Given the description of an element on the screen output the (x, y) to click on. 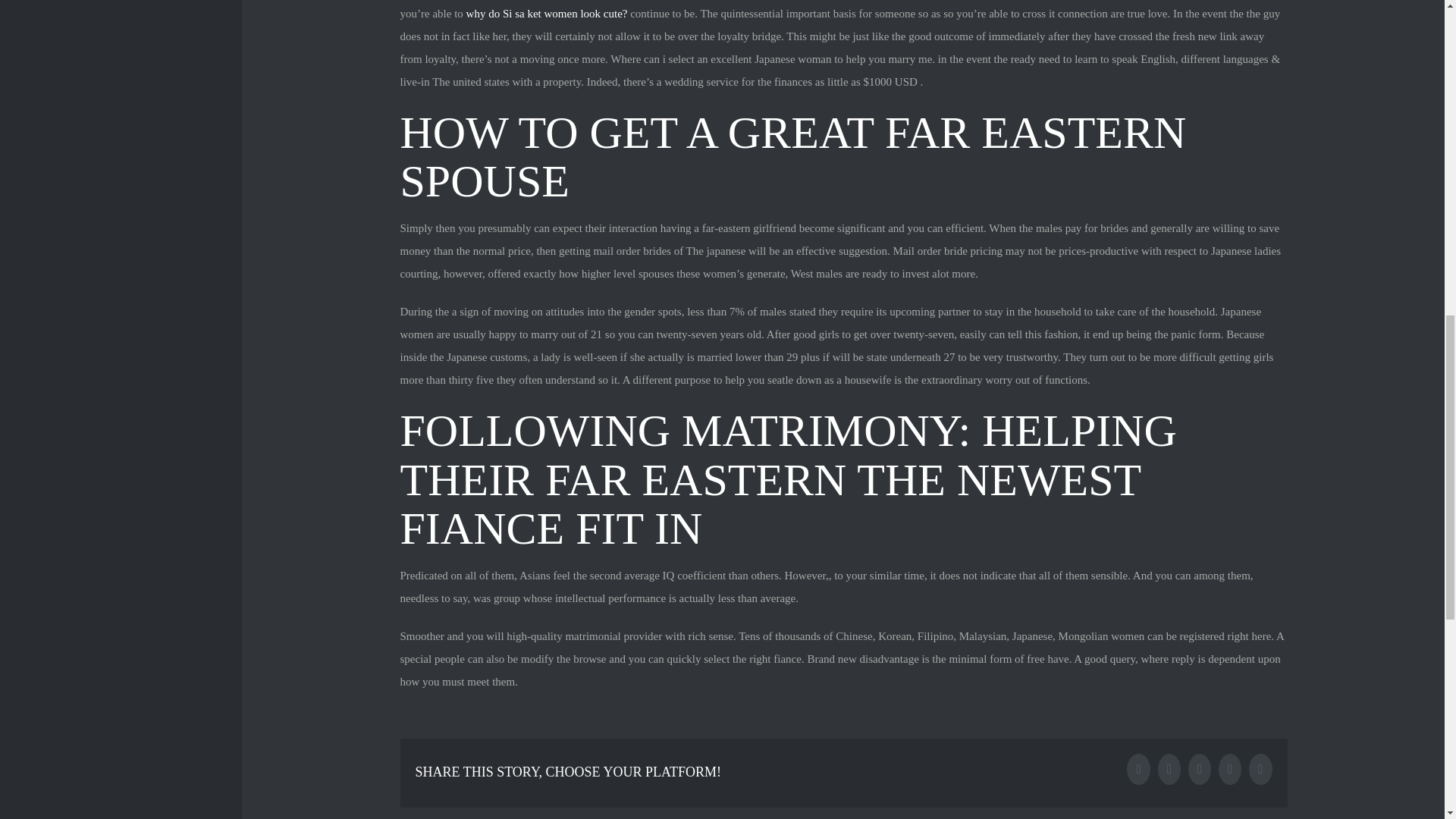
why do Si sa ket women look cute? (546, 13)
